Given the description of an element on the screen output the (x, y) to click on. 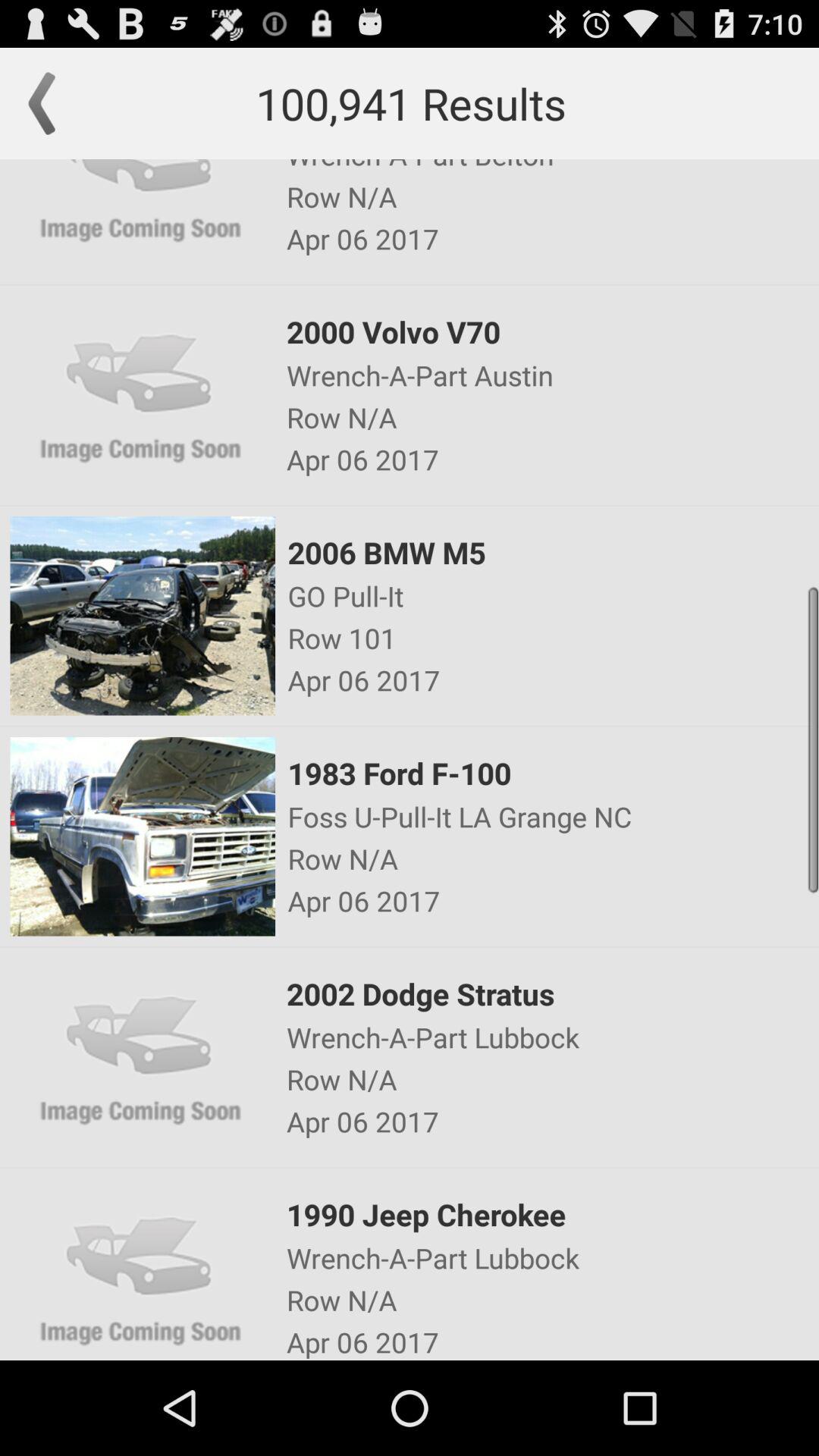
select app below the apr 06 2017 app (551, 773)
